Given the description of an element on the screen output the (x, y) to click on. 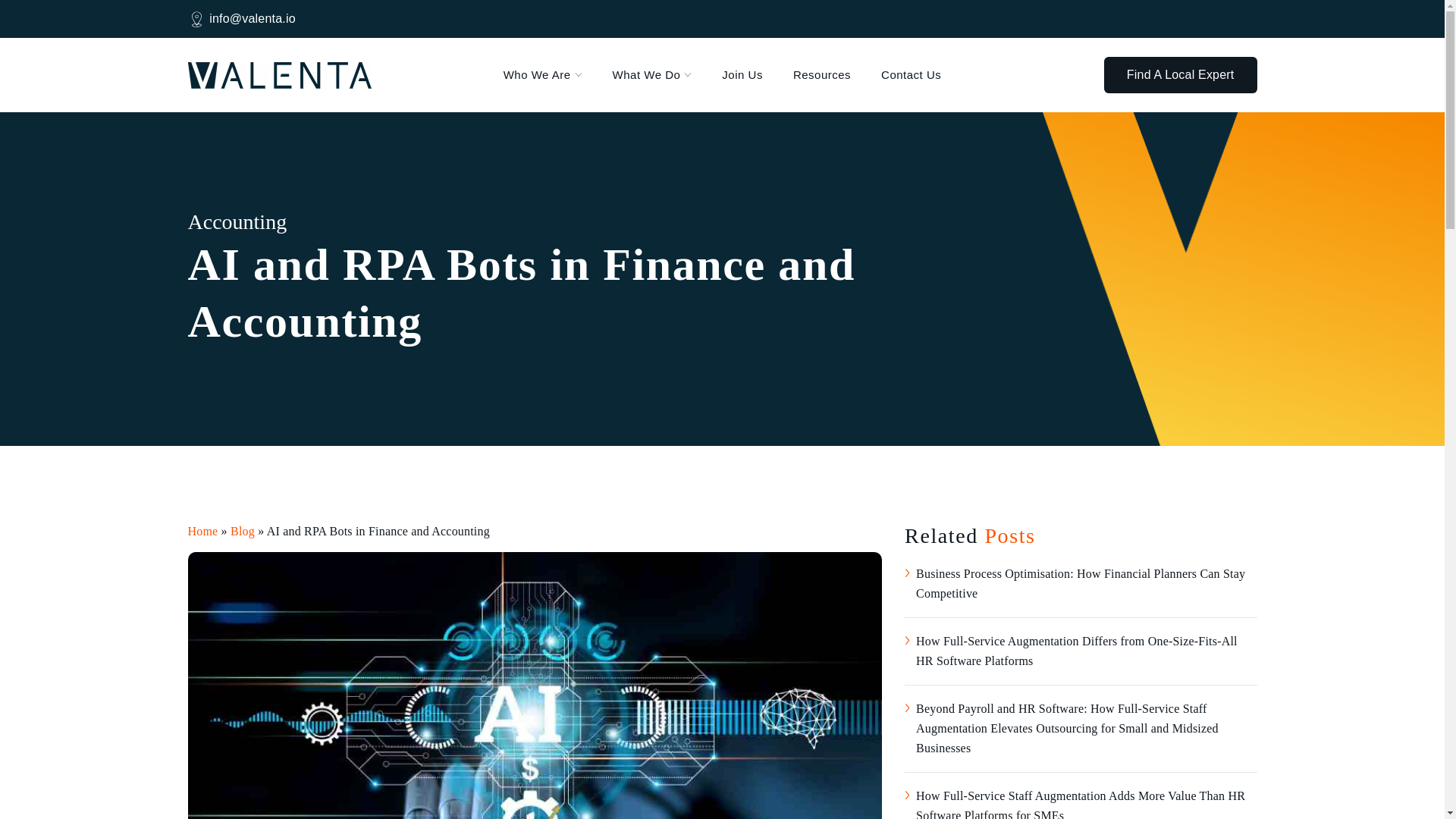
What We Do (652, 75)
Who We Are (542, 75)
